Given the description of an element on the screen output the (x, y) to click on. 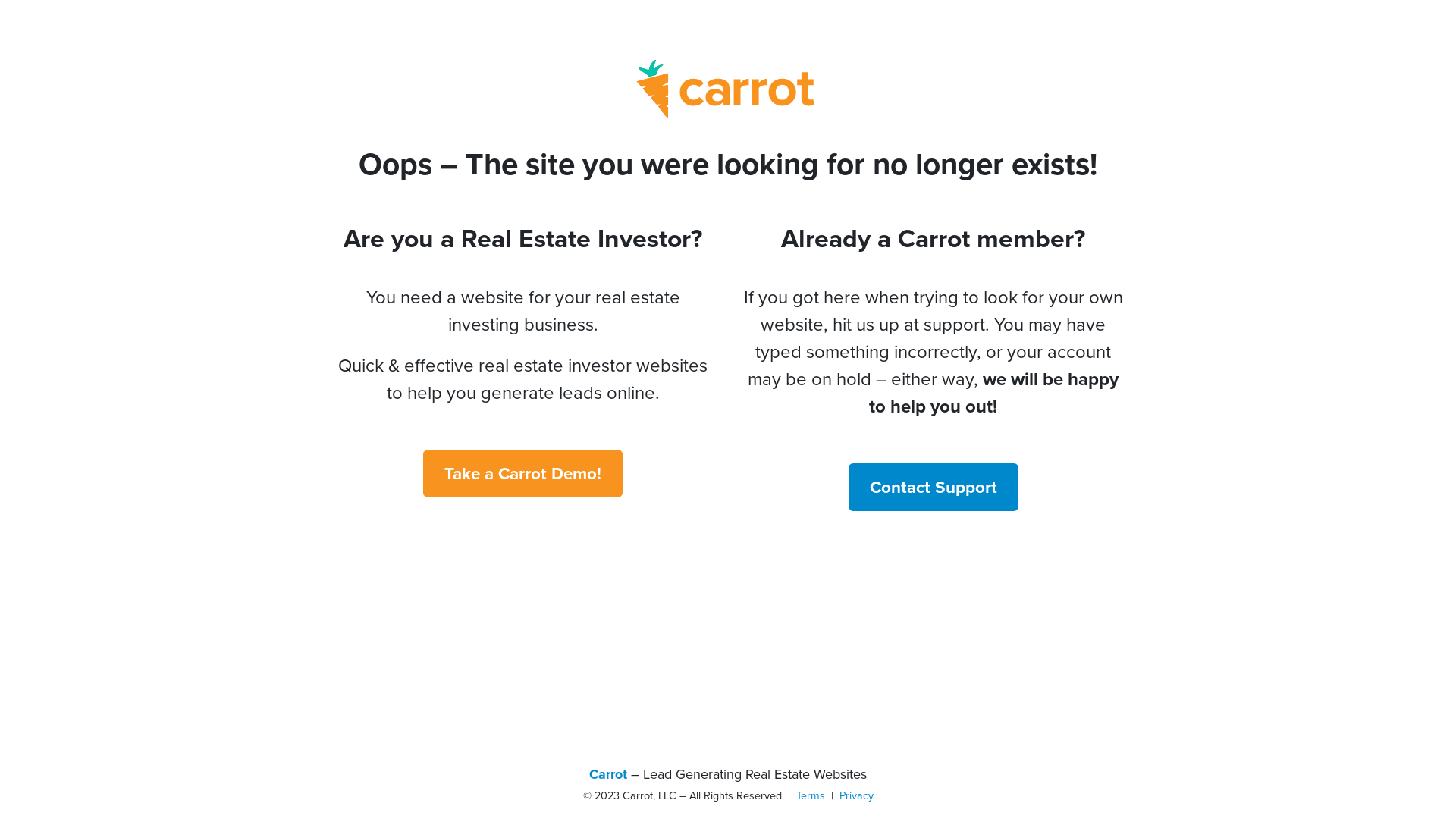
Take a Carrot Demo! Element type: text (522, 473)
Carrot Element type: text (608, 774)
Contact Support Element type: text (932, 487)
Terms Element type: text (810, 795)
Privacy Element type: text (855, 795)
